Given the description of an element on the screen output the (x, y) to click on. 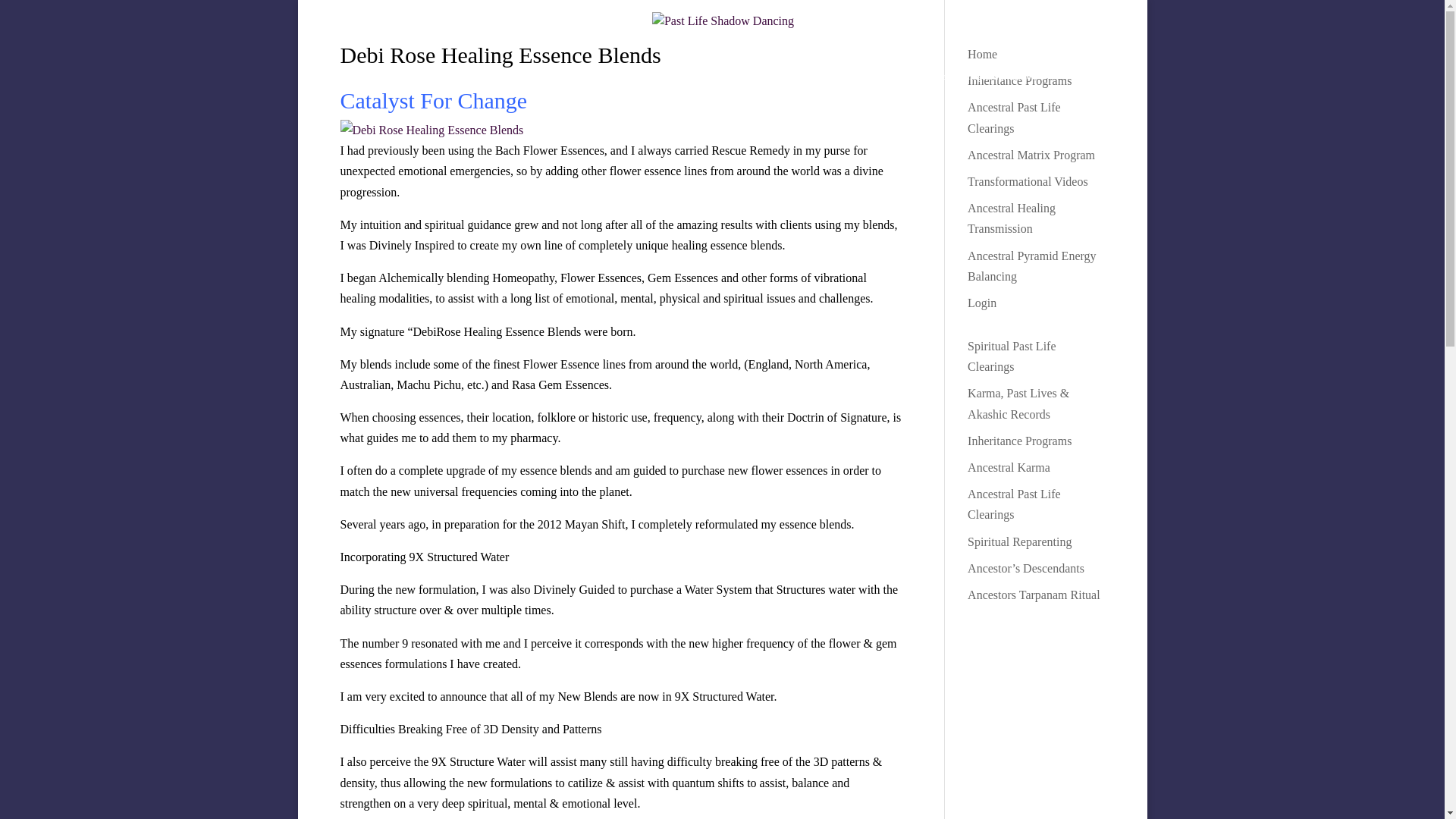
Ancestral Past Life Clearings (1014, 503)
Login (981, 302)
Ancestral Matrix Program (1031, 154)
Ancestral Past Life Clearings (1014, 117)
Ancestral Pyramid Energy Balancing (1032, 264)
Spiritual Reparenting (1019, 541)
Transformational Videos (1027, 181)
Inheritance Programs (1019, 80)
Spiritual Past Life Clearings (1011, 356)
Ancestral Matrix Program (723, 83)
